Given the description of an element on the screen output the (x, y) to click on. 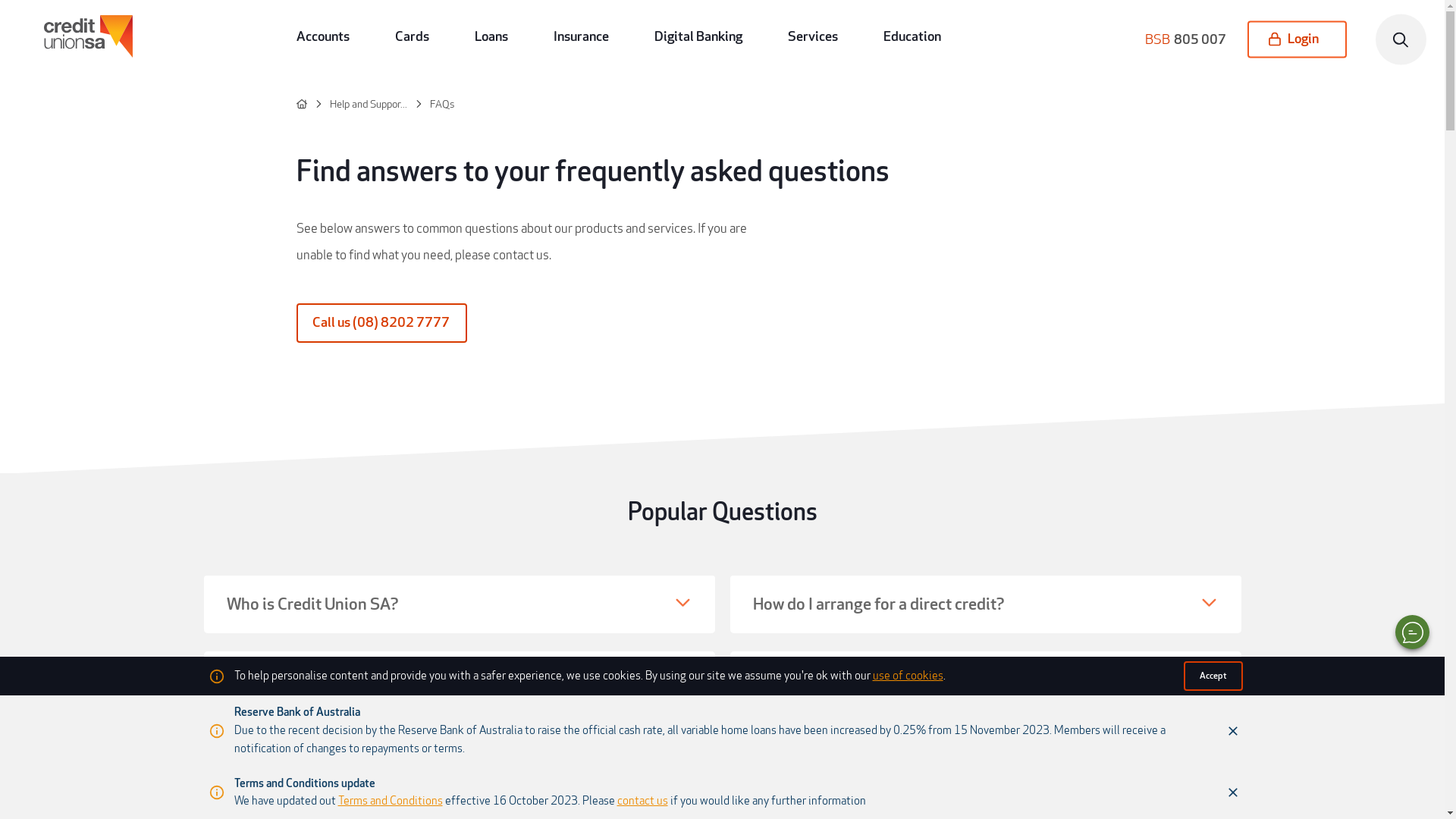
Login Element type: text (1296, 39)
Accept Element type: text (1212, 675)
Help and Suppor... Element type: text (360, 104)
Terms and Conditions Element type: text (390, 800)
contact us Element type: text (642, 800)
Call us (08) 8202 7777 Element type: text (381, 322)
Close Element type: hover (1232, 792)
Close Element type: hover (1232, 730)
FAQs Element type: text (433, 104)
use of cookies Element type: text (907, 675)
